Given the description of an element on the screen output the (x, y) to click on. 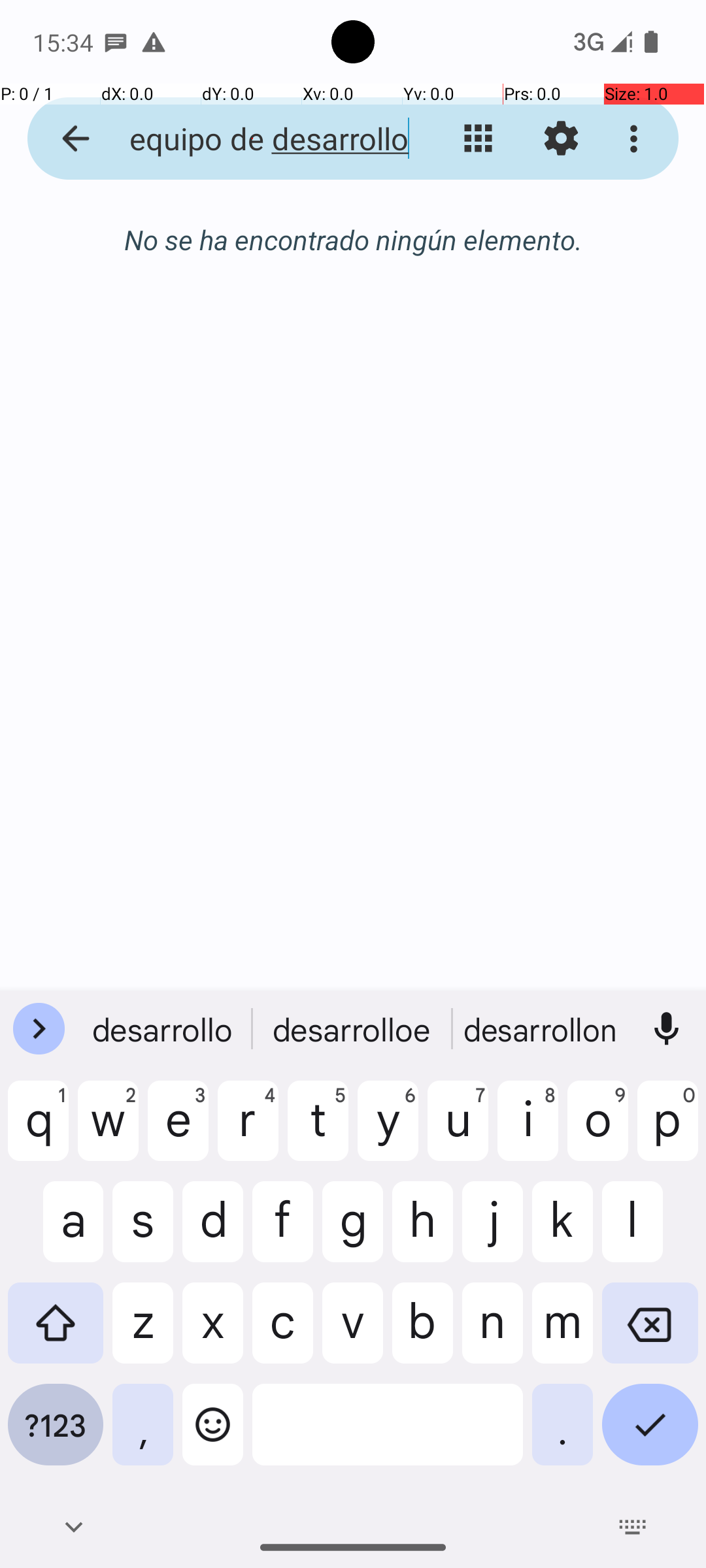
reunion con equipo de desarrollo Element type: android.widget.EditText (252, 138)
desarrollo Element type: android.widget.FrameLayout (163, 1028)
desarrolloe Element type: android.widget.FrameLayout (352, 1028)
desarrollon Element type: android.widget.FrameLayout (541, 1028)
